Given the description of an element on the screen output the (x, y) to click on. 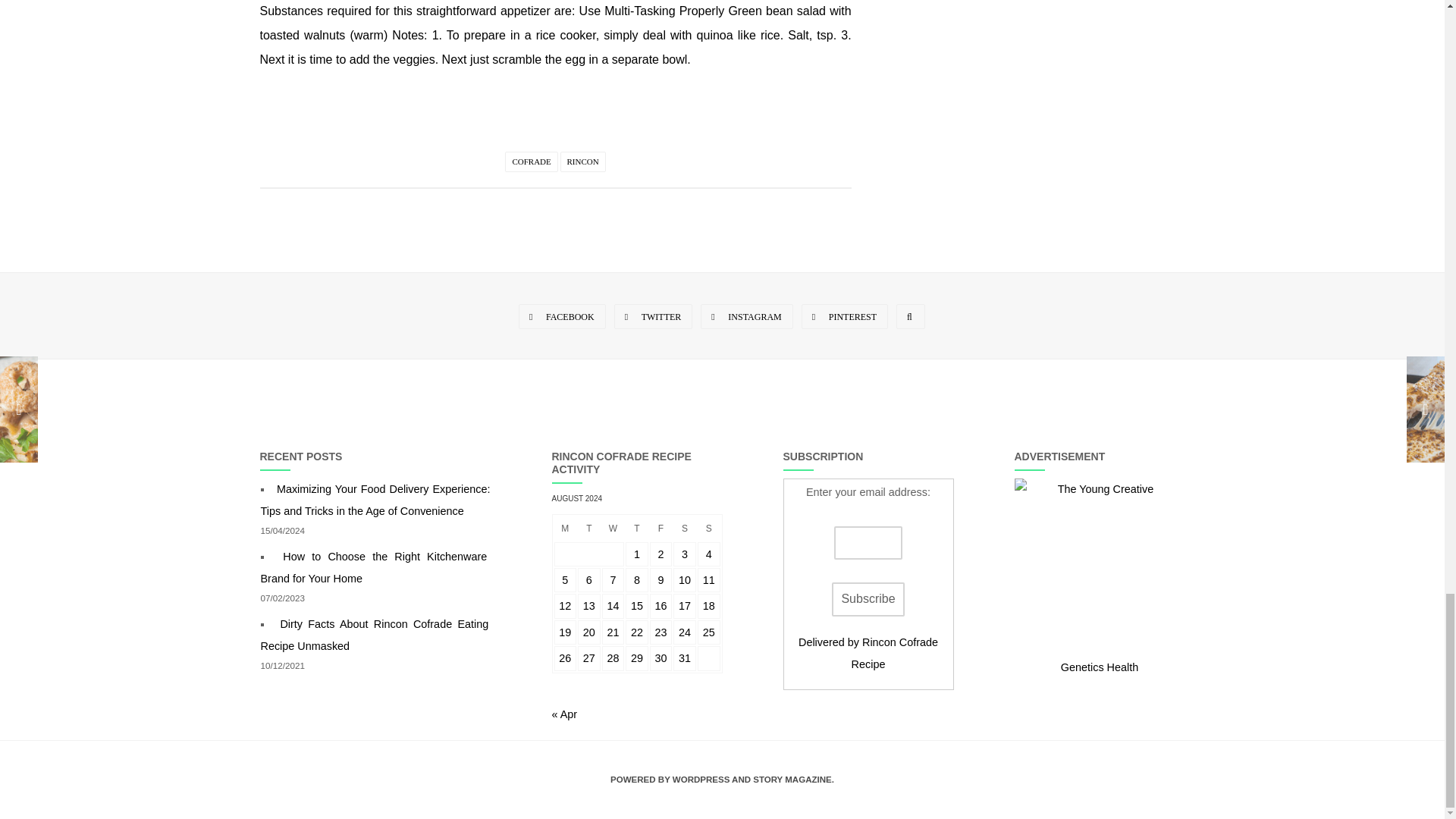
RINCON (582, 161)
COFRADE (531, 161)
Subscribe (868, 599)
